Given the description of an element on the screen output the (x, y) to click on. 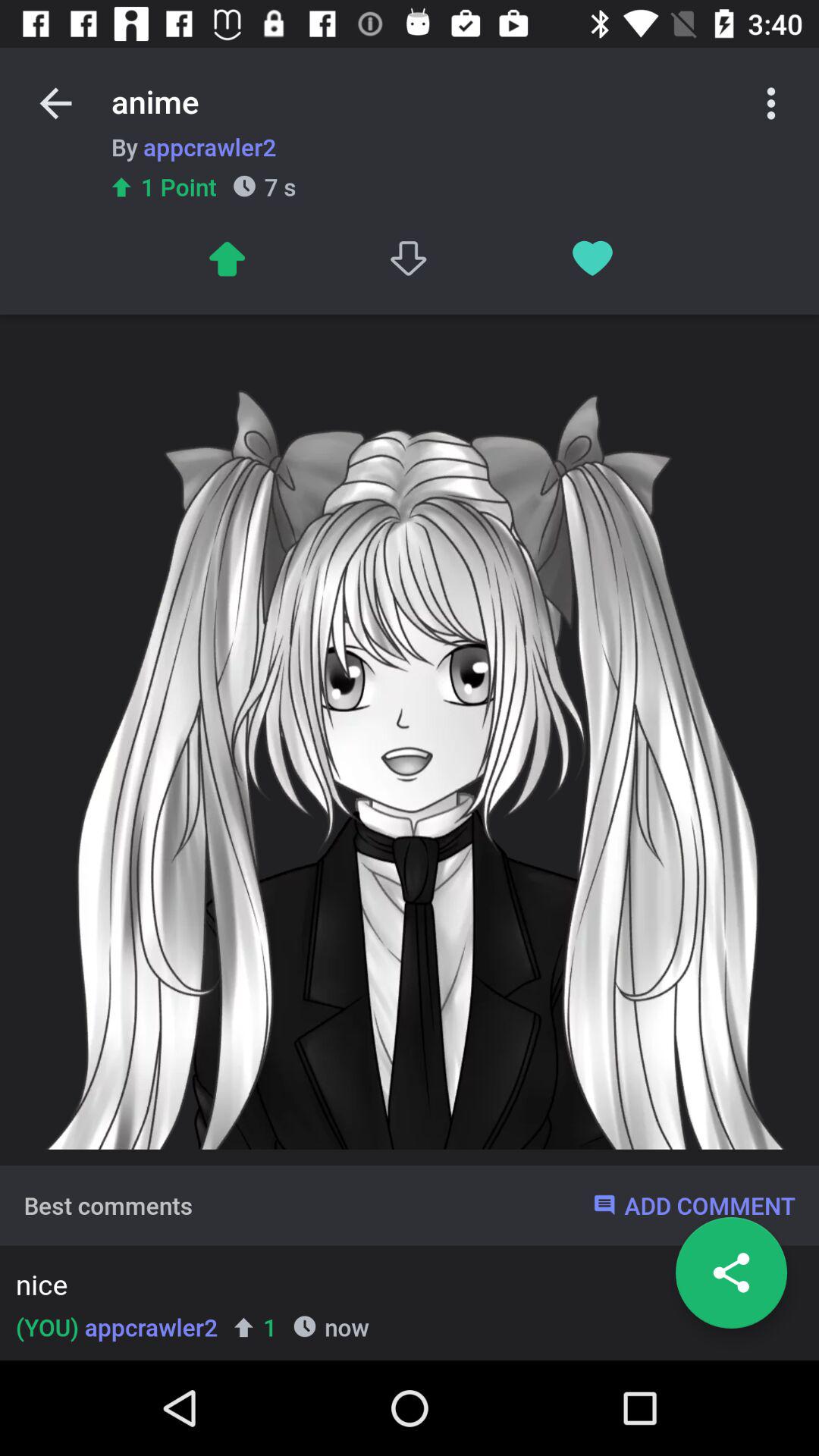
go back (55, 103)
